Given the description of an element on the screen output the (x, y) to click on. 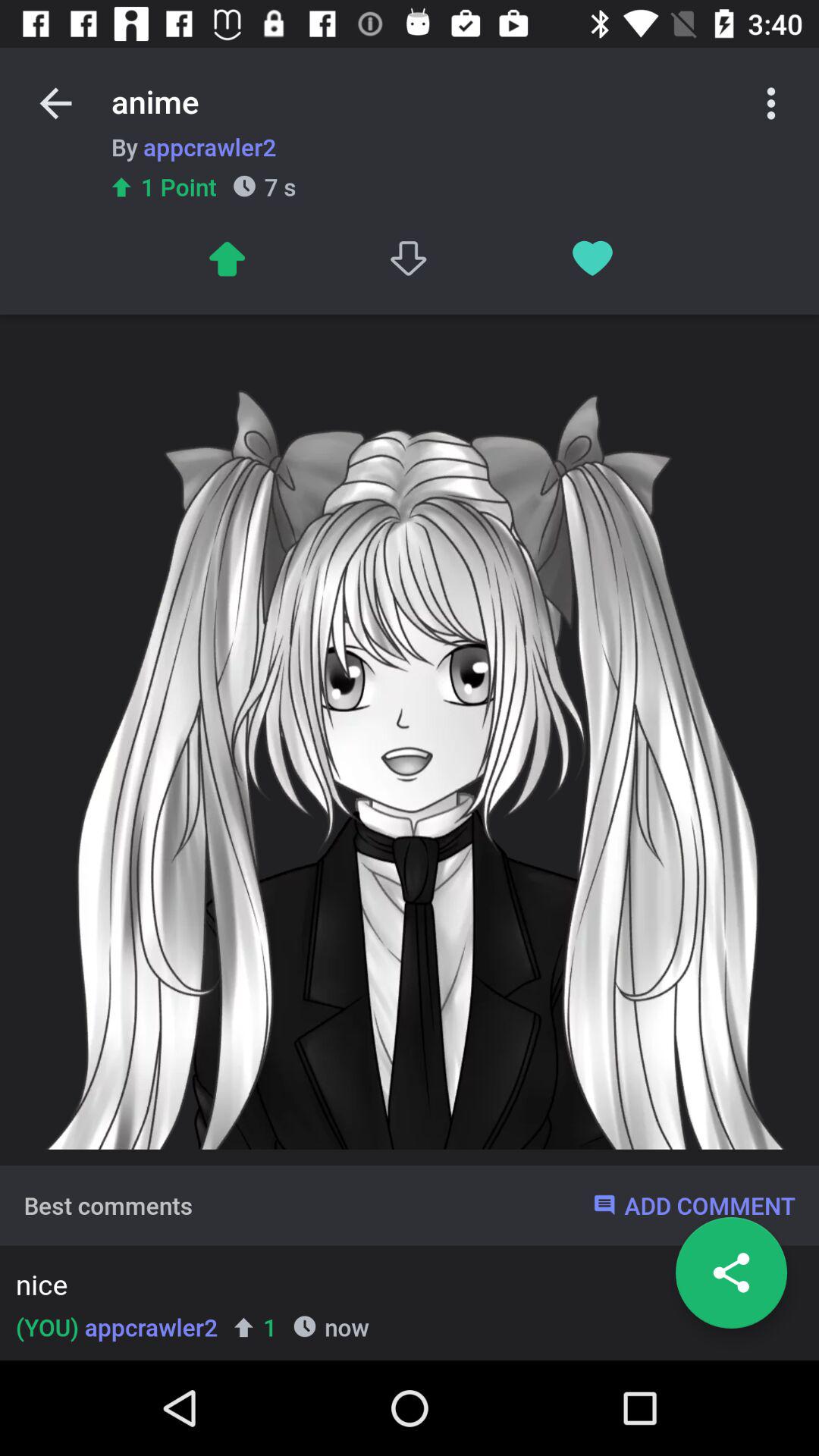
go back (55, 103)
